Given the description of an element on the screen output the (x, y) to click on. 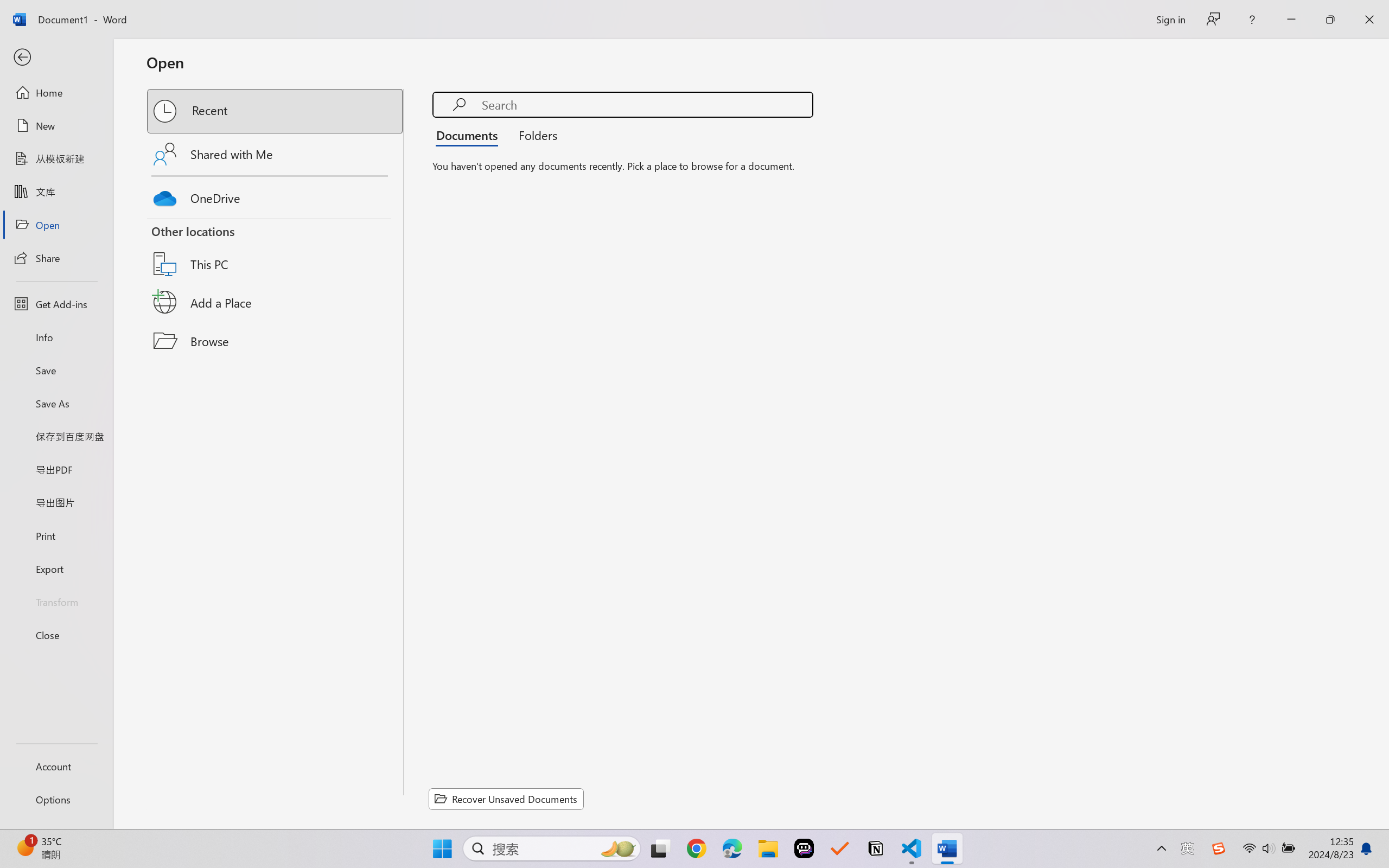
Folders (534, 134)
Account (56, 765)
Info (56, 337)
Export (56, 568)
OneDrive (275, 195)
Print (56, 535)
